Given the description of an element on the screen output the (x, y) to click on. 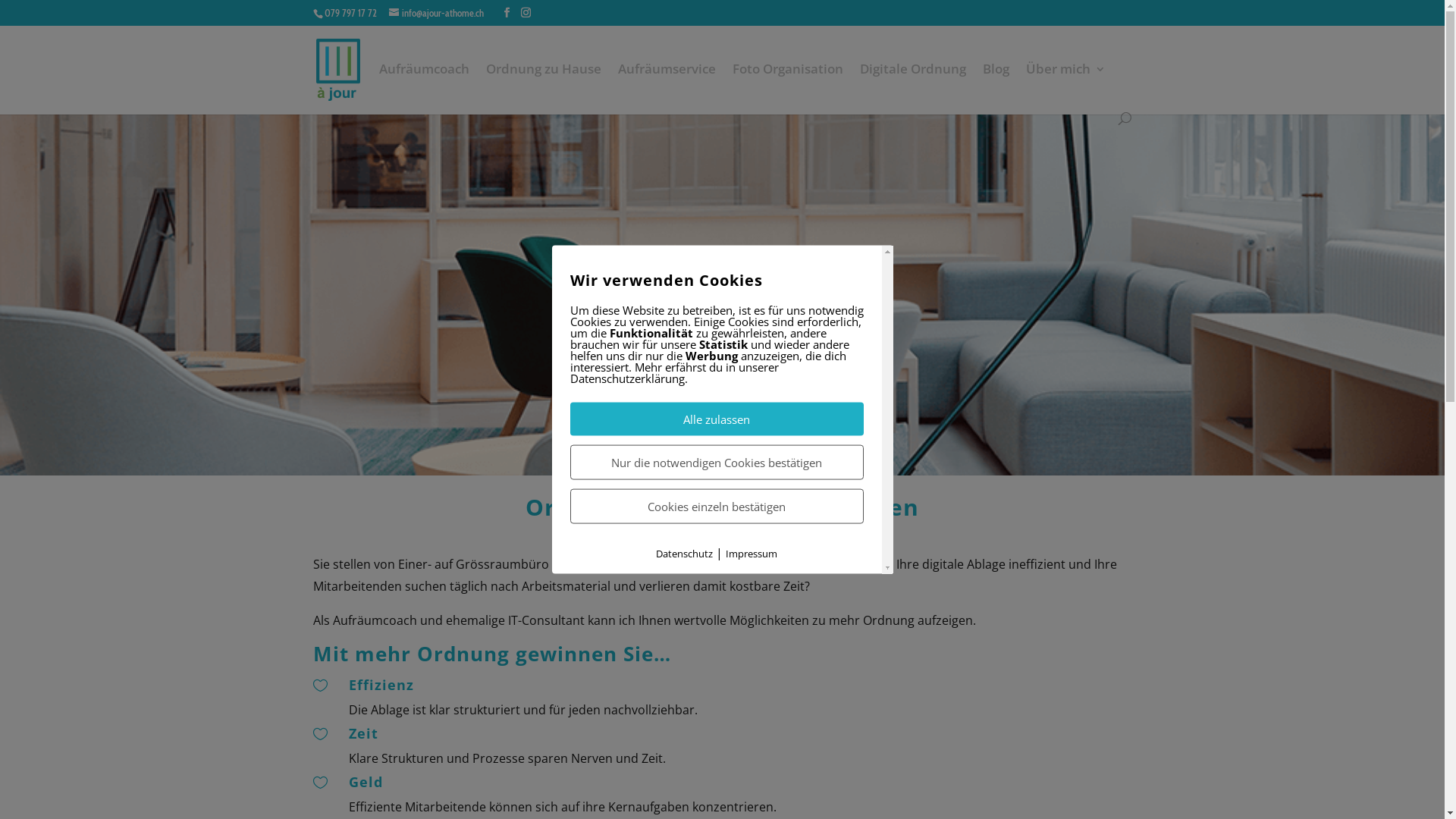
Digitale Ordnung Element type: text (912, 87)
Alle zulassen Element type: text (716, 419)
Impressum Element type: text (751, 553)
info@ajour-athome.ch Element type: text (435, 12)
Foto Organisation Element type: text (787, 87)
Ordnung zu Hause Element type: text (542, 87)
Datenschutz Element type: text (683, 553)
Blog Element type: text (995, 87)
